Given the description of an element on the screen output the (x, y) to click on. 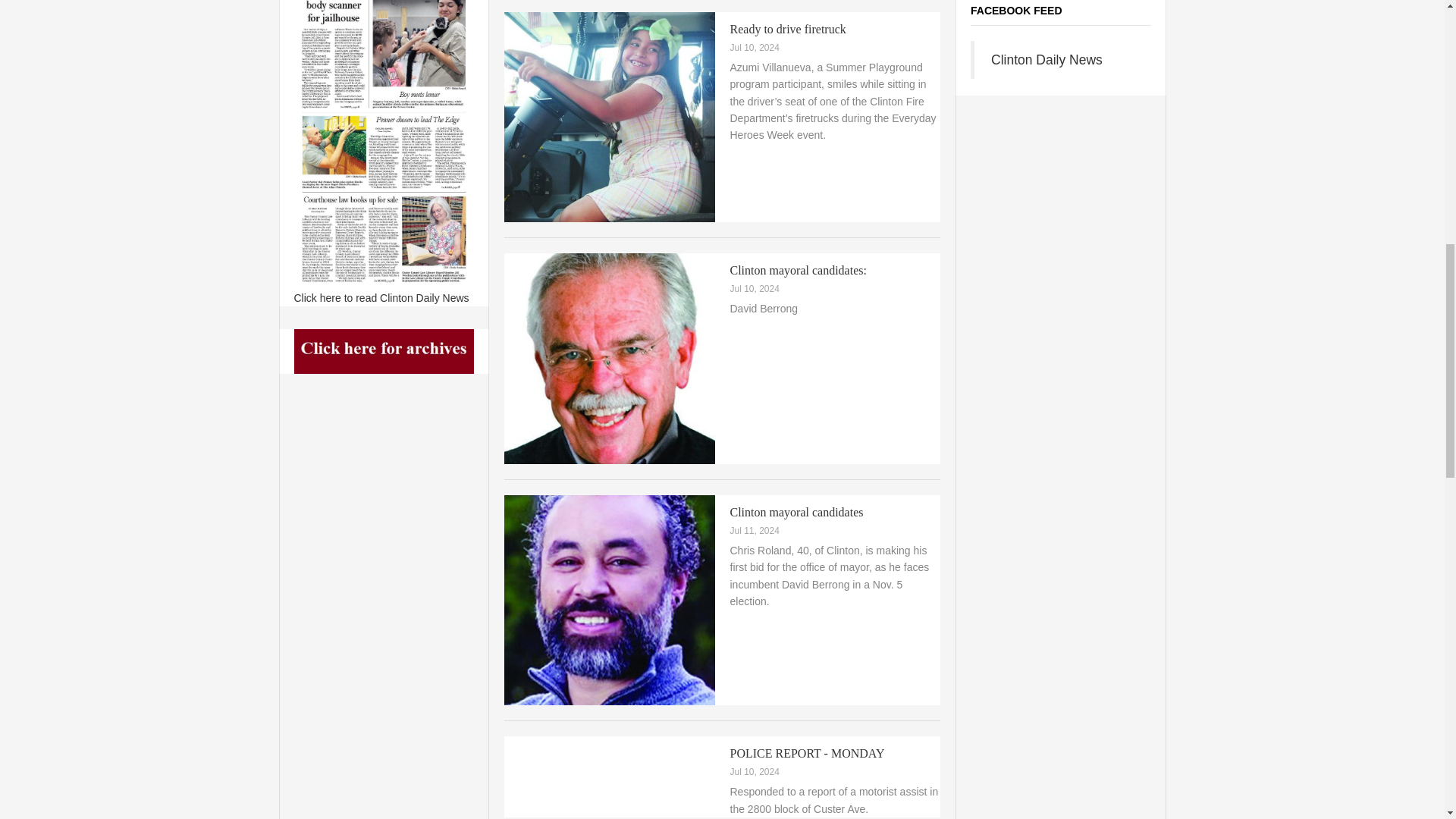
Clinton mayoral candidates (796, 512)
Ready to drive firetruck (787, 29)
POLICE REPORT - MONDAY (806, 753)
Clinton mayoral candidates: (797, 269)
